Given the description of an element on the screen output the (x, y) to click on. 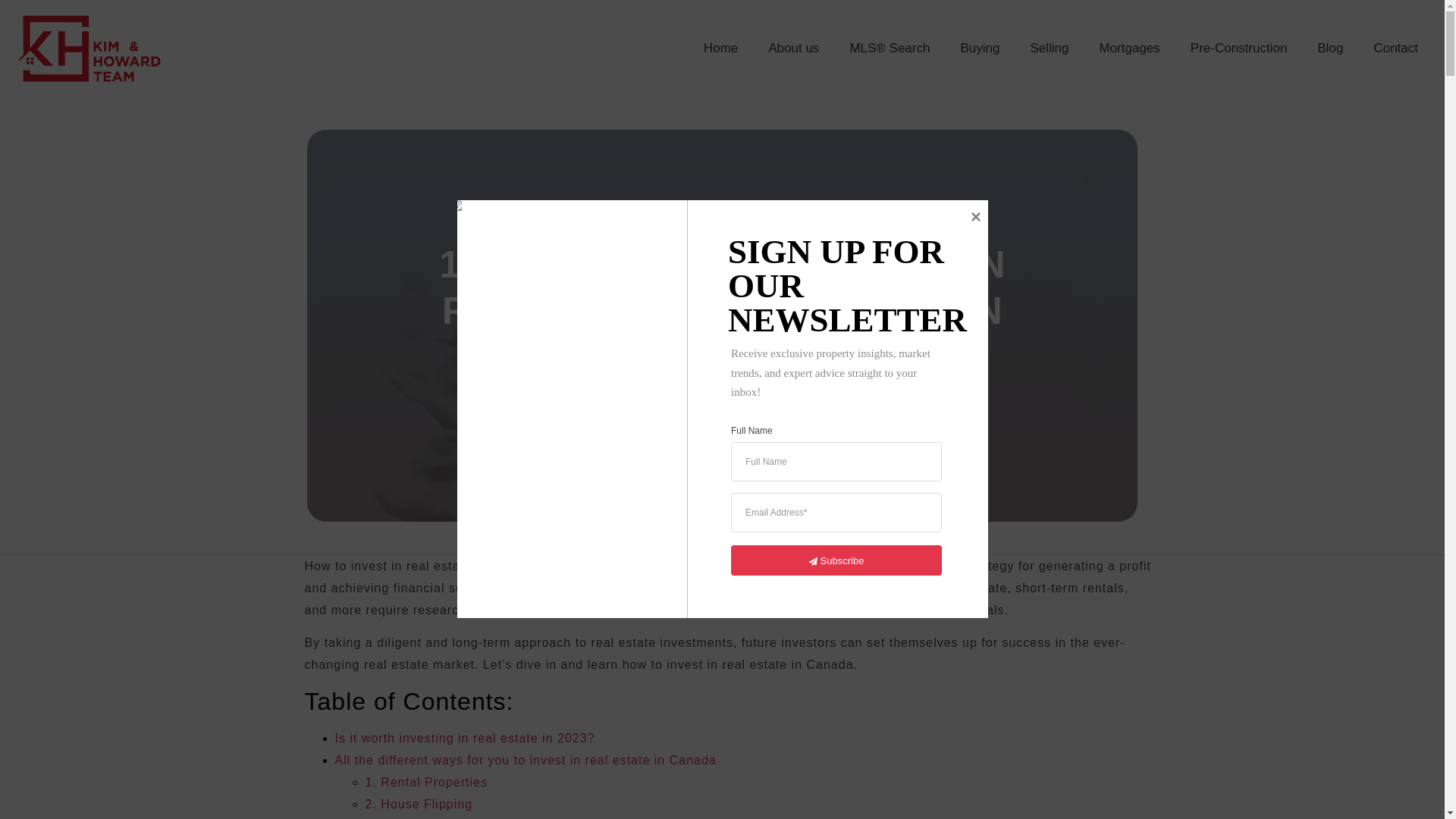
Buying (979, 48)
Home (720, 48)
Pre-Construction (1238, 48)
Blog (1329, 48)
About us (793, 48)
Mortgages (1128, 48)
Contact (1395, 48)
Selling (1048, 48)
